Given the description of an element on the screen output the (x, y) to click on. 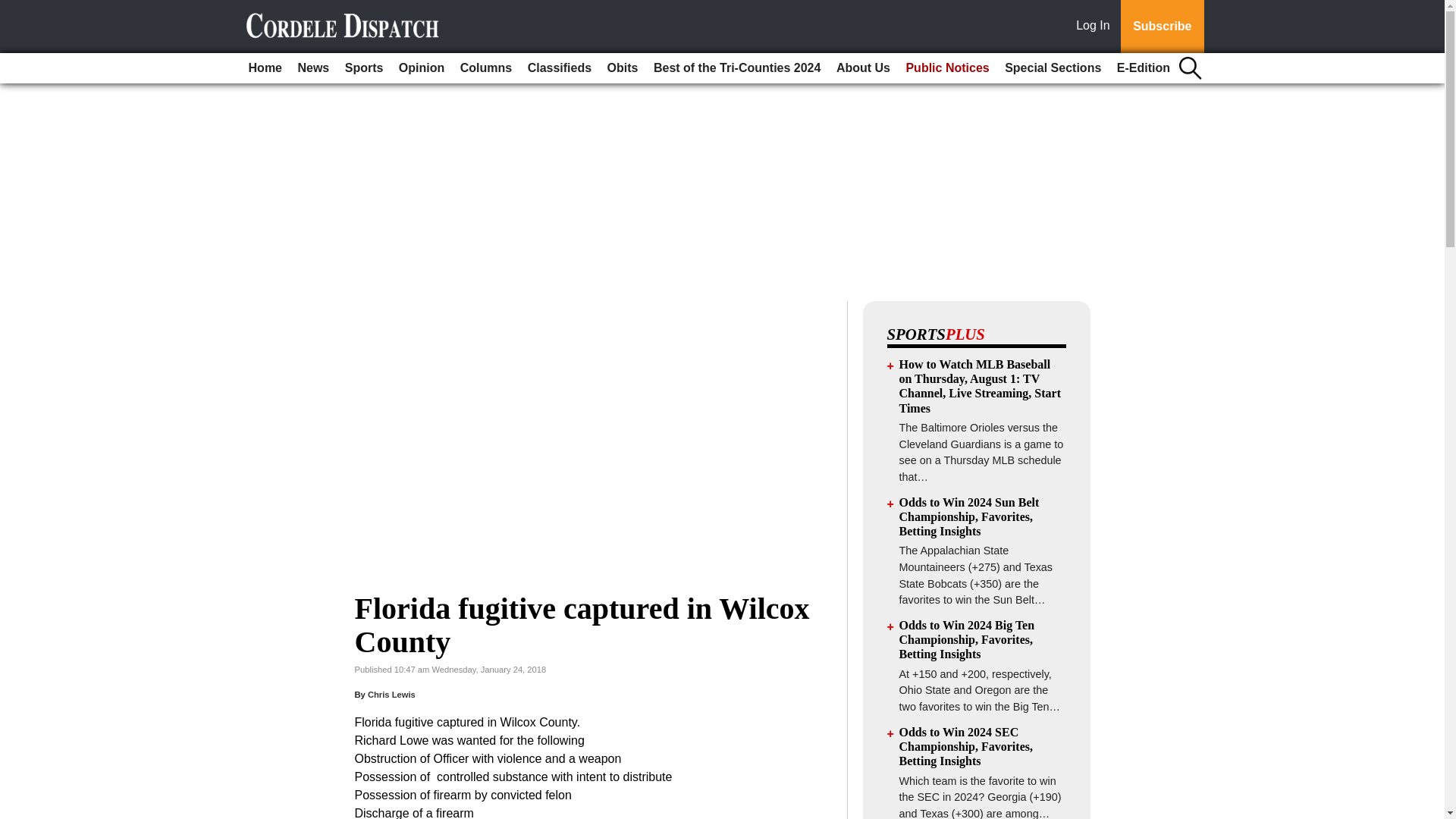
Subscribe (1162, 26)
Obits (623, 68)
Chris Lewis (391, 694)
Columns (486, 68)
Best of the Tri-Counties 2024 (737, 68)
E-Edition (1143, 68)
Go (13, 9)
Public Notices (946, 68)
